Given the description of an element on the screen output the (x, y) to click on. 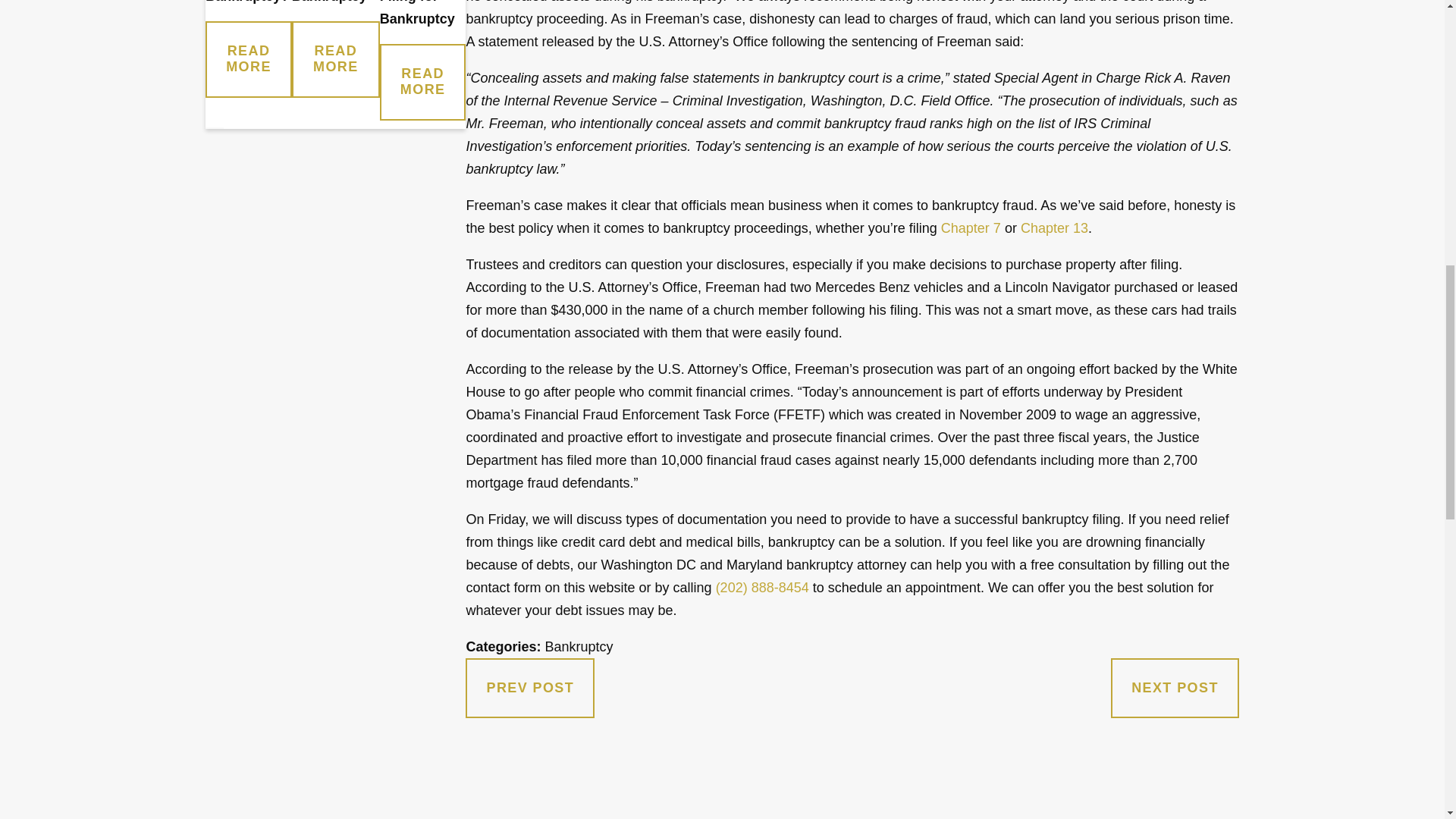
Link to information about Chapter 13 bankruptcy (1053, 227)
Chapter 7 (970, 227)
Link to information about Chapter 7 bankruptcy (970, 227)
